Given the description of an element on the screen output the (x, y) to click on. 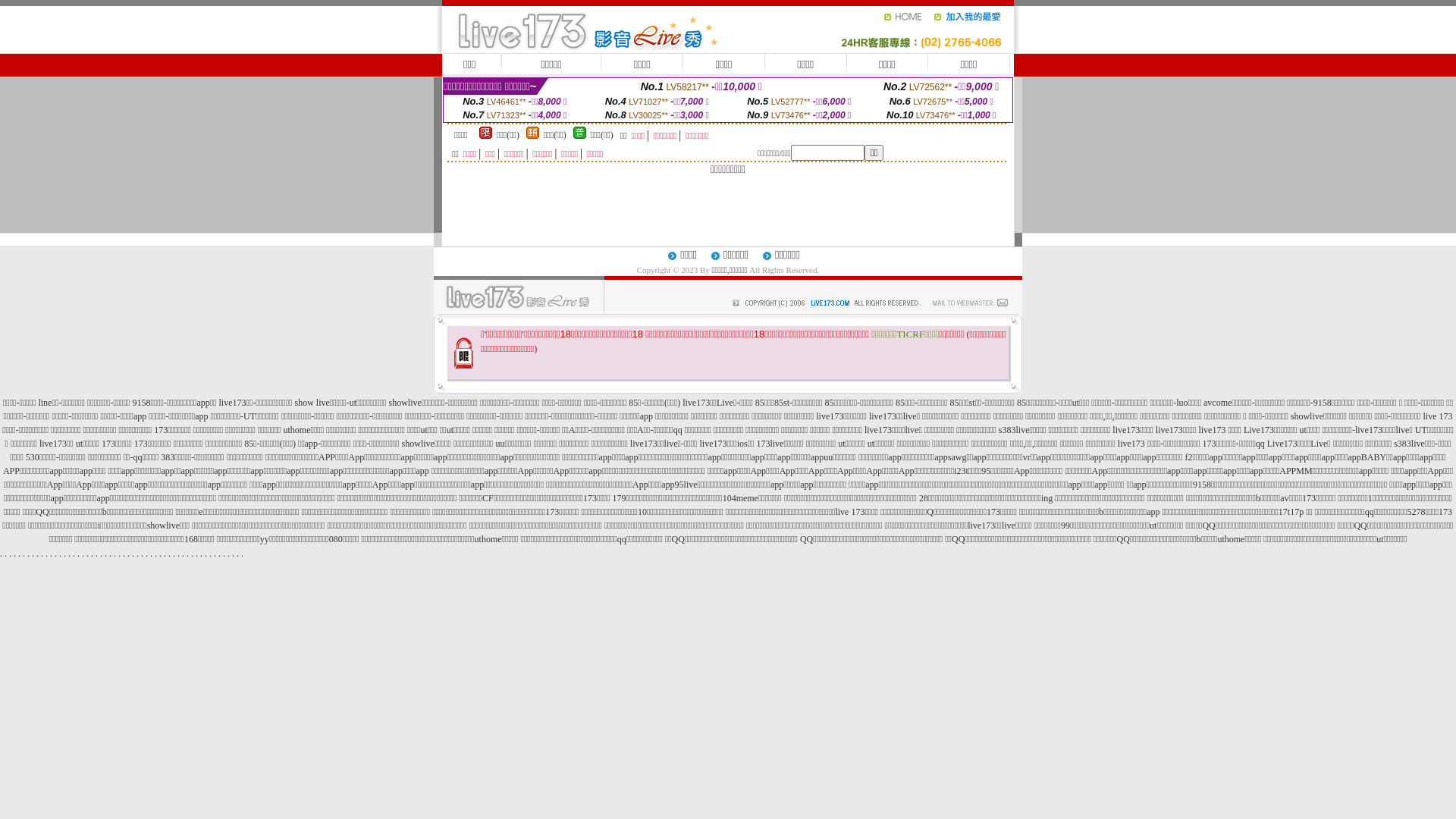
. Element type: text (92, 553)
. Element type: text (64, 553)
. Element type: text (87, 553)
. Element type: text (137, 553)
. Element type: text (51, 553)
. Element type: text (73, 553)
. Element type: text (5, 553)
. Element type: text (160, 553)
. Element type: text (32, 553)
. Element type: text (128, 553)
. Element type: text (205, 553)
. Element type: text (142, 553)
. Element type: text (14, 553)
. Element type: text (233, 553)
. Element type: text (23, 553)
. Element type: text (169, 553)
. Element type: text (228, 553)
. Element type: text (223, 553)
. Element type: text (101, 553)
. Element type: text (155, 553)
. Element type: text (105, 553)
. Element type: text (46, 553)
. Element type: text (178, 553)
. Element type: text (96, 553)
. Element type: text (69, 553)
. Element type: text (123, 553)
. Element type: text (242, 553)
. Element type: text (183, 553)
. Element type: text (37, 553)
. Element type: text (10, 553)
. Element type: text (210, 553)
. Element type: text (192, 553)
. Element type: text (119, 553)
. Element type: text (82, 553)
. Element type: text (146, 553)
. Element type: text (201, 553)
. Element type: text (219, 553)
. Element type: text (55, 553)
. Element type: text (237, 553)
. Element type: text (41, 553)
. Element type: text (151, 553)
. Element type: text (173, 553)
. Element type: text (60, 553)
. Element type: text (164, 553)
. Element type: text (132, 553)
. Element type: text (110, 553)
. Element type: text (19, 553)
. Element type: text (196, 553)
. Element type: text (28, 553)
. Element type: text (187, 553)
. Element type: text (114, 553)
. Element type: text (214, 553)
. Element type: text (78, 553)
. Element type: text (1, 553)
